Given the description of an element on the screen output the (x, y) to click on. 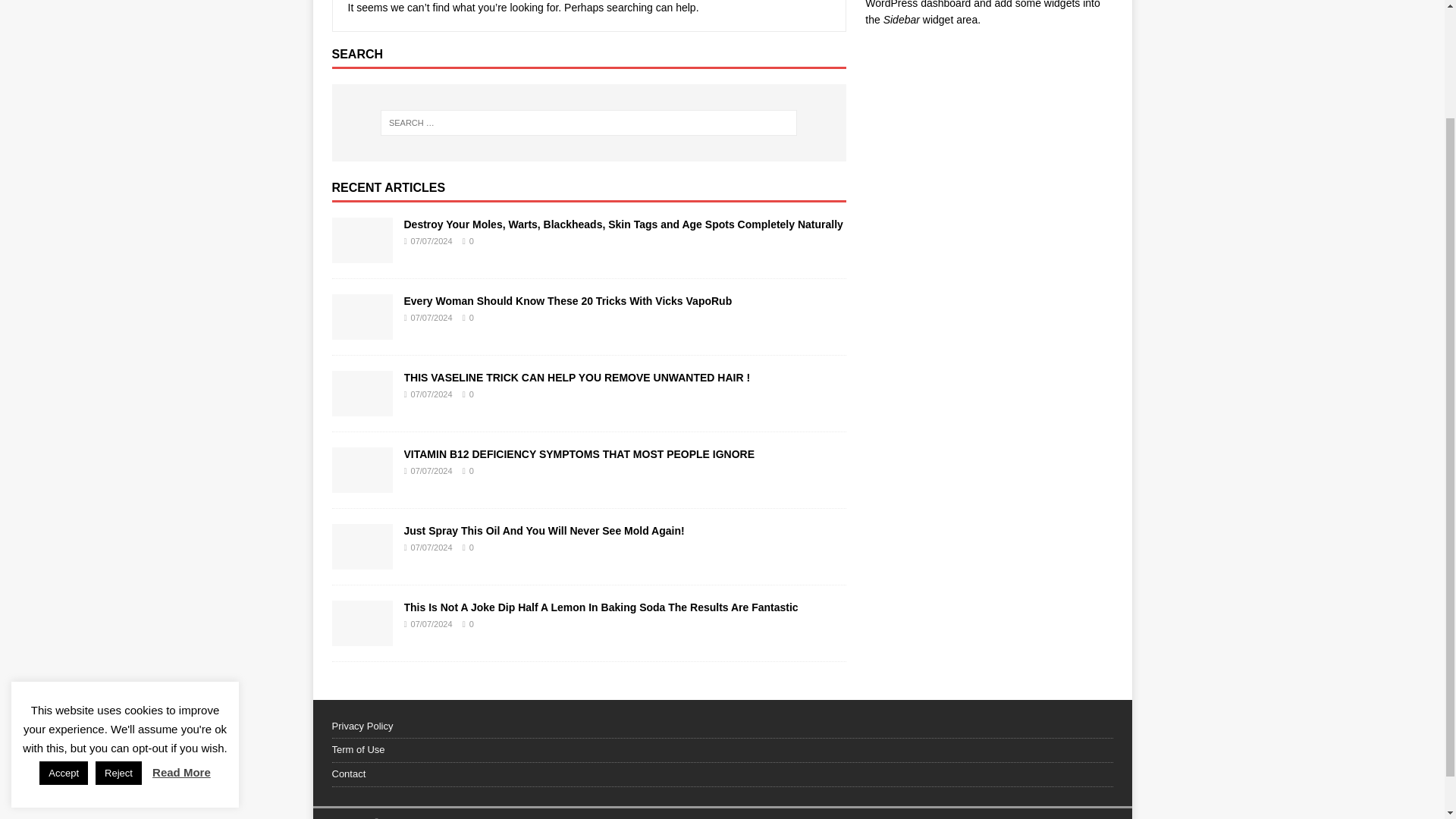
0 (471, 393)
0 (471, 623)
0 (471, 240)
Accept (63, 639)
VITAMIN B12 DEFICIENCY SYMPTOMS THAT MOST PEOPLE IGNORE (578, 453)
Term of Use (722, 750)
Just Spray This Oil And You Will Never See Mold Again! (362, 560)
THIS VASELINE TRICK CAN HELP YOU REMOVE UNWANTED HAIR ! (362, 407)
Every Woman Should Know These 20 Tricks With Vicks VapoRub (567, 300)
0 (471, 470)
VITAMIN B12 DEFICIENCY SYMPTOMS THAT MOST PEOPLE IGNORE (578, 453)
VITAMIN B12 DEFICIENCY SYMPTOMS THAT MOST PEOPLE IGNORE (362, 483)
